Given the description of an element on the screen output the (x, y) to click on. 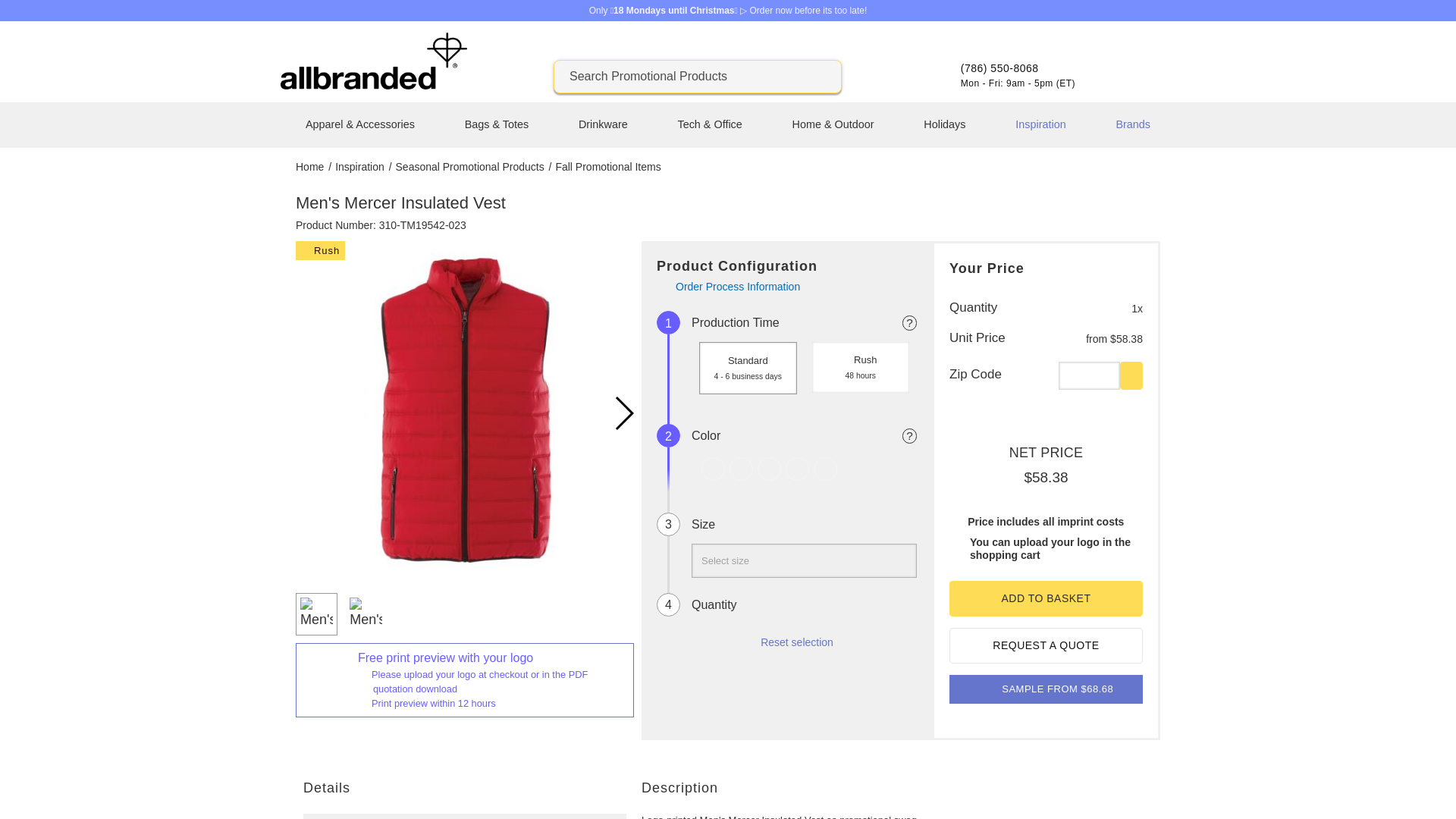
New Royal Heather (768, 468)
allbranded.com (374, 84)
Red (797, 468)
Steel Grey (825, 469)
Red (796, 469)
Navy Blue (740, 468)
Inspiration (360, 166)
Home (310, 166)
Navy Blue (740, 469)
New Royal Heather (769, 469)
